Given the description of an element on the screen output the (x, y) to click on. 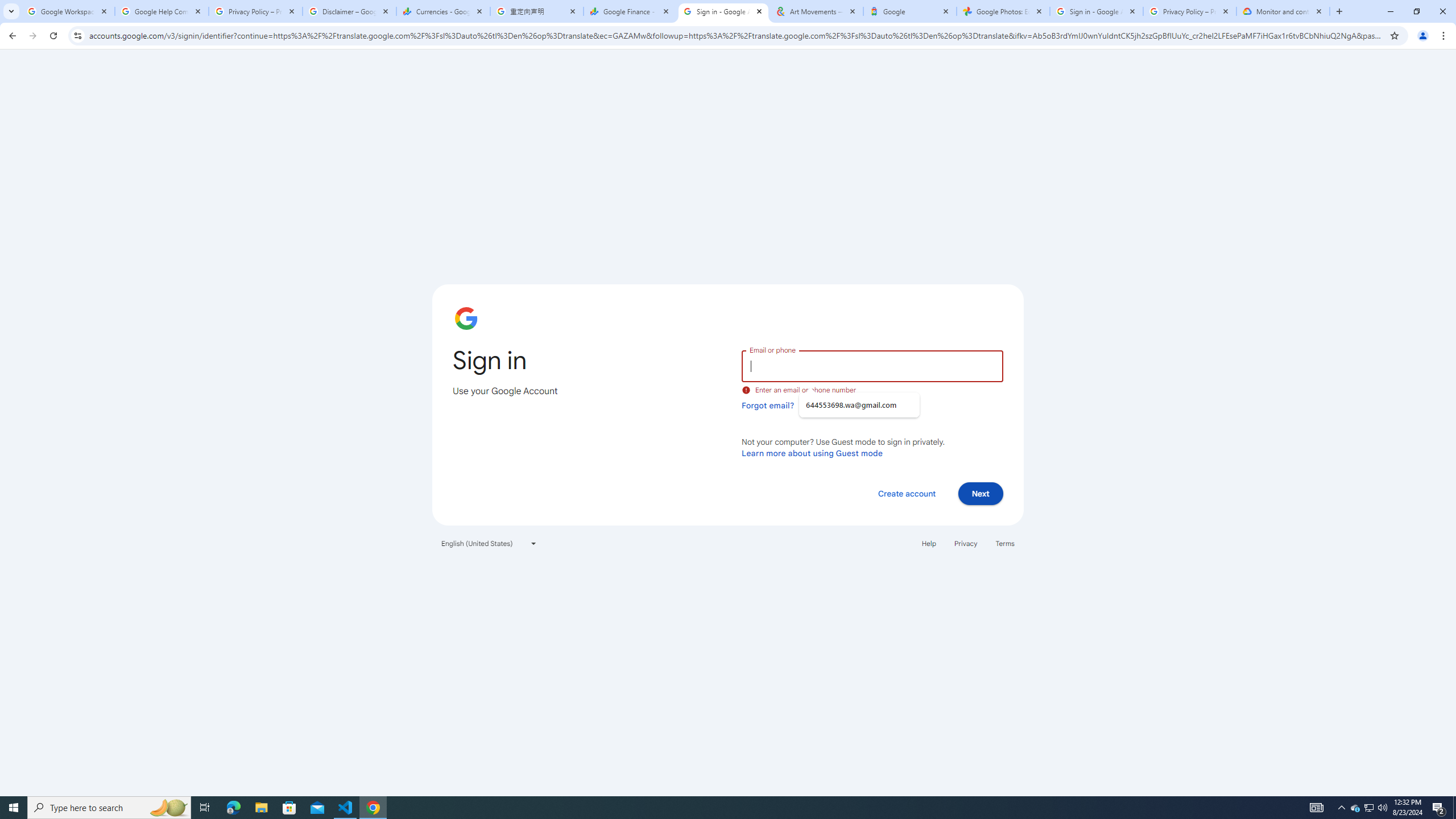
Email or phone (871, 365)
